Given the description of an element on the screen output the (x, y) to click on. 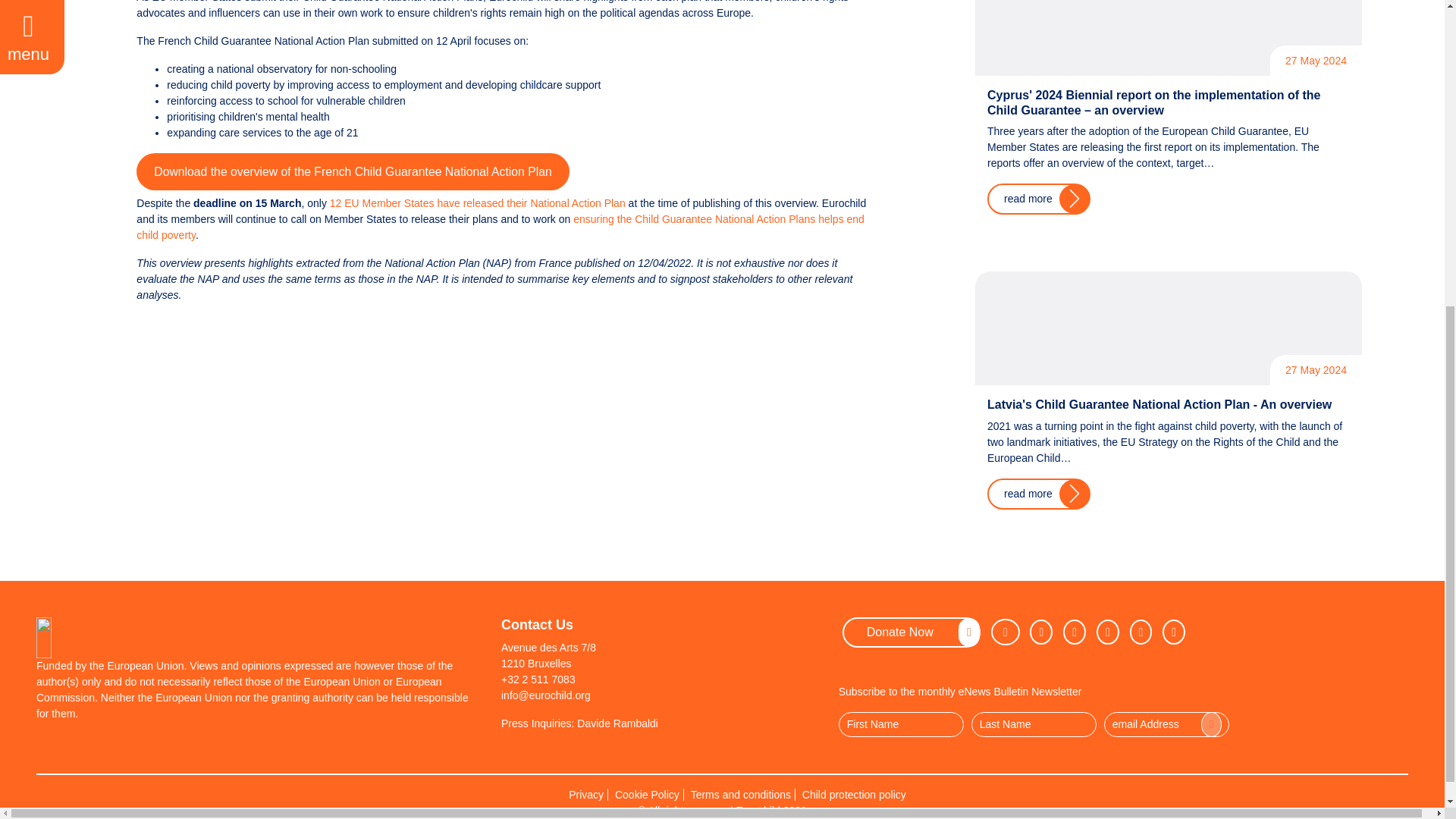
12 EU Member States have released their National Action Plan (478, 203)
Davide Rambaldi (617, 723)
Member Dashboard (1173, 631)
Child protection policy (853, 794)
Privacy (586, 794)
Cookie Policy (647, 794)
read more (1038, 198)
Terms and conditions (740, 794)
